Given the description of an element on the screen output the (x, y) to click on. 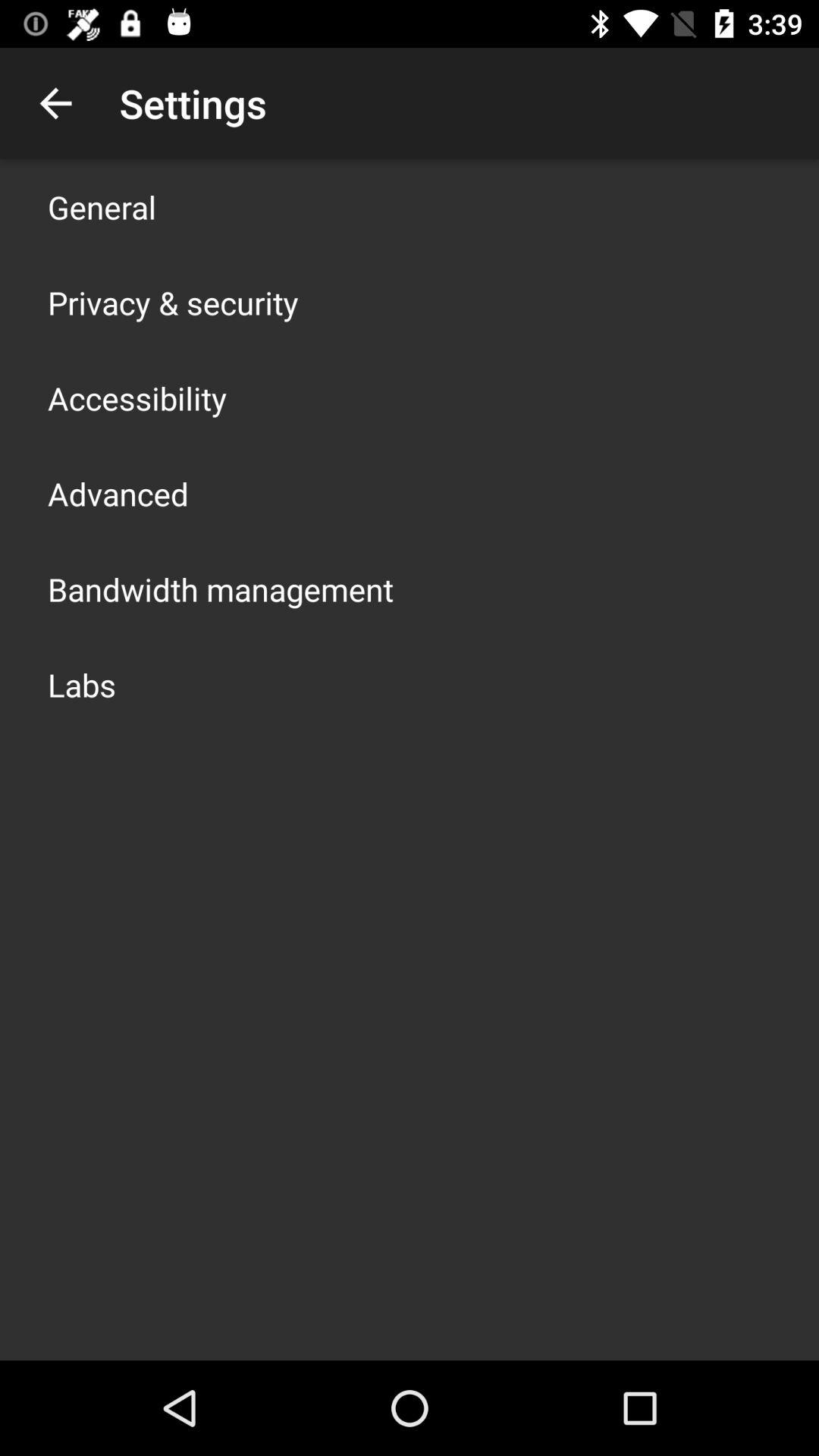
swipe until the privacy & security icon (172, 302)
